Given the description of an element on the screen output the (x, y) to click on. 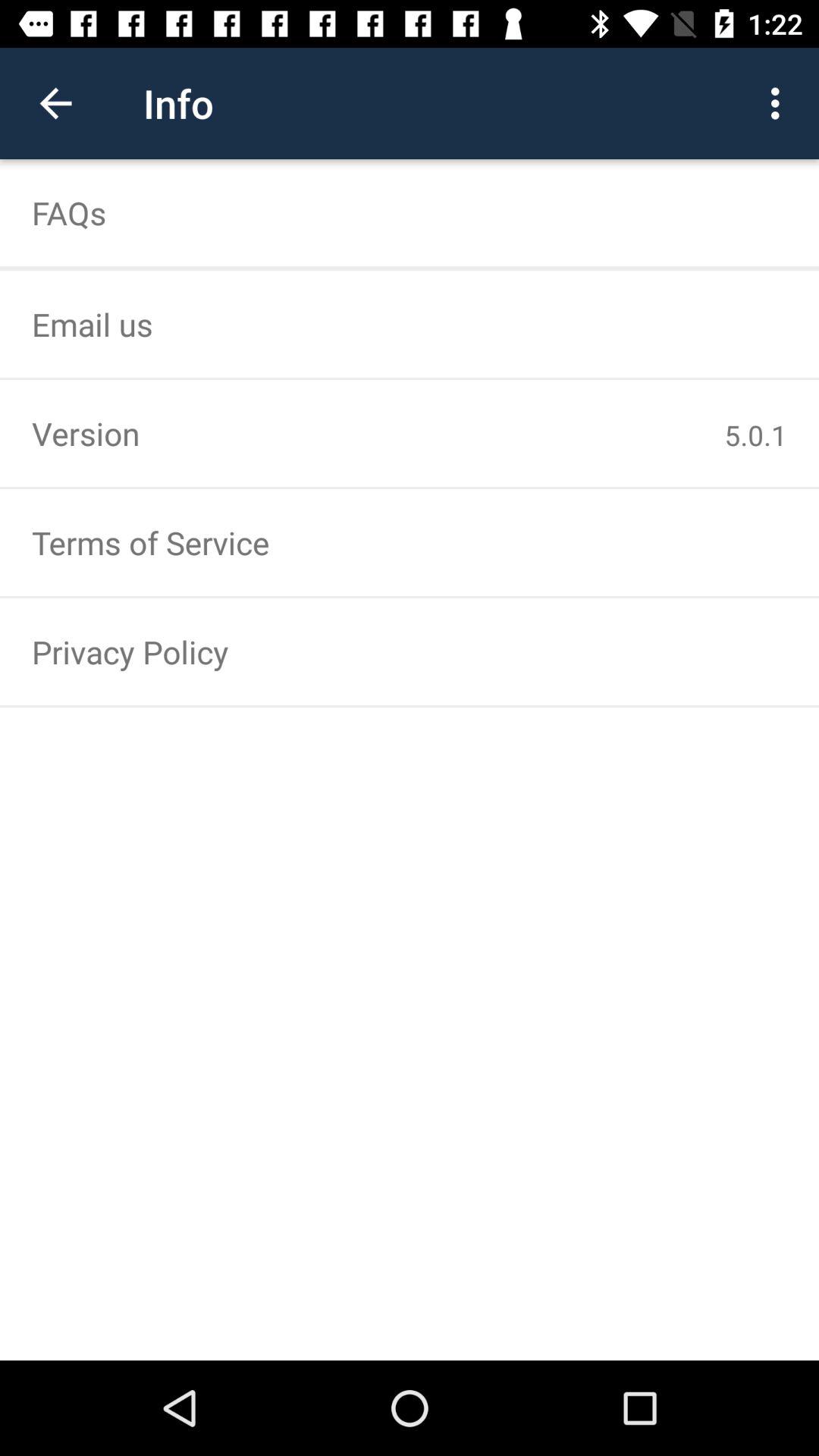
flip until the faqs (409, 212)
